Given the description of an element on the screen output the (x, y) to click on. 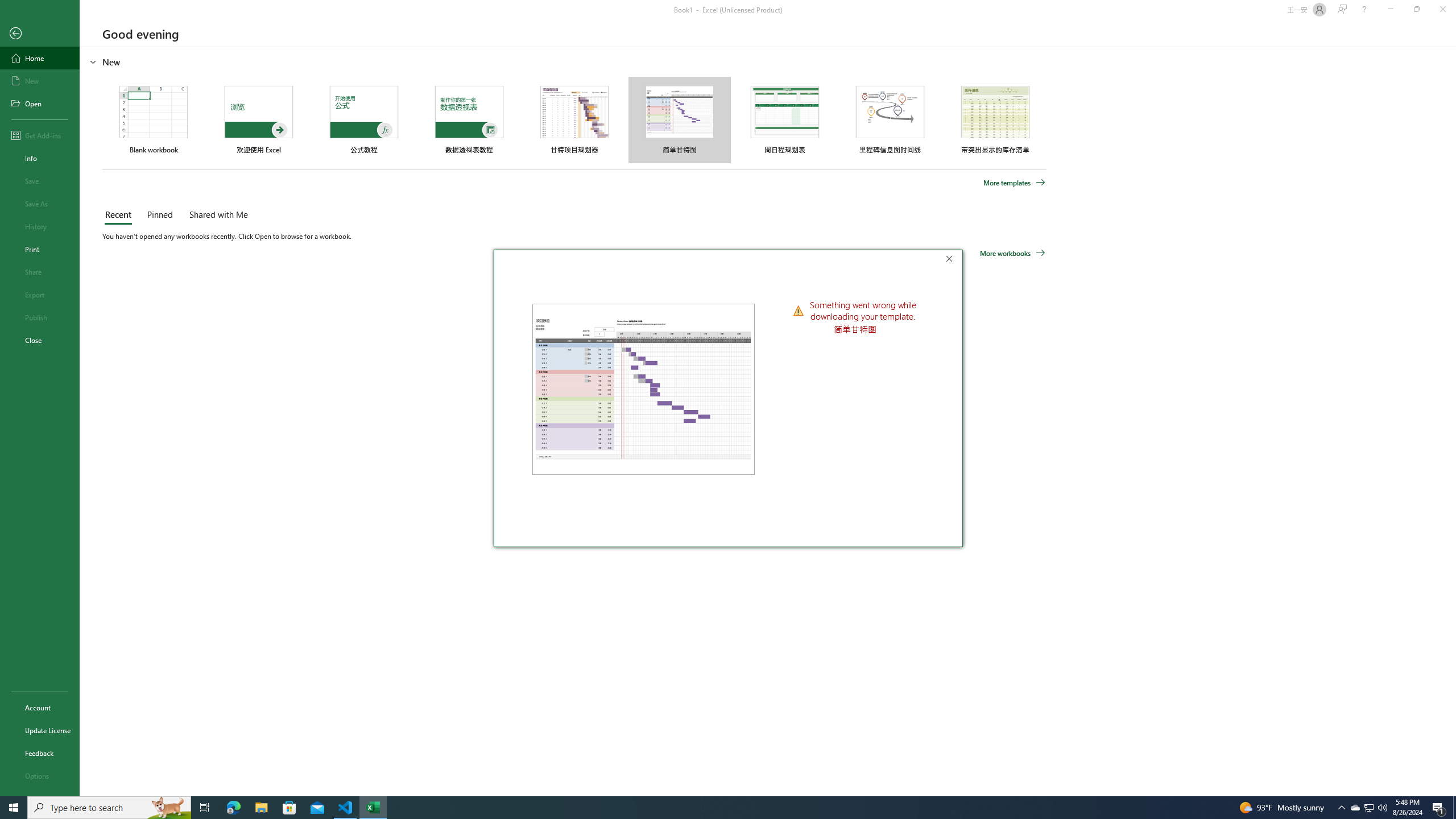
Account (40, 707)
Class: NetUIScrollBar (1450, 421)
Q2790: 100% (1382, 807)
System (6, 6)
